Given the description of an element on the screen output the (x, y) to click on. 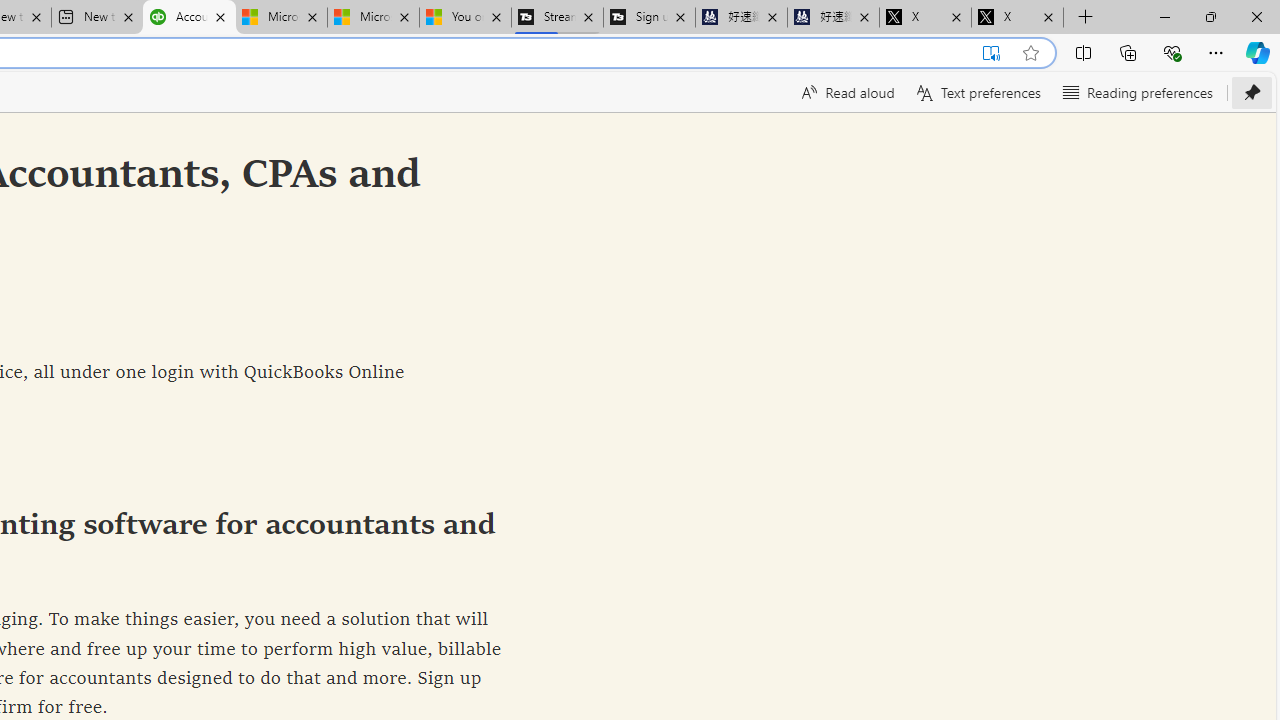
Accounting Software for Accountants, CPAs and Bookkeepers (189, 17)
Read aloud (846, 92)
Exit Immersive Reader (F9) (991, 53)
Streaming Coverage | T3 (557, 17)
Text preferences (976, 92)
